Given the description of an element on the screen output the (x, y) to click on. 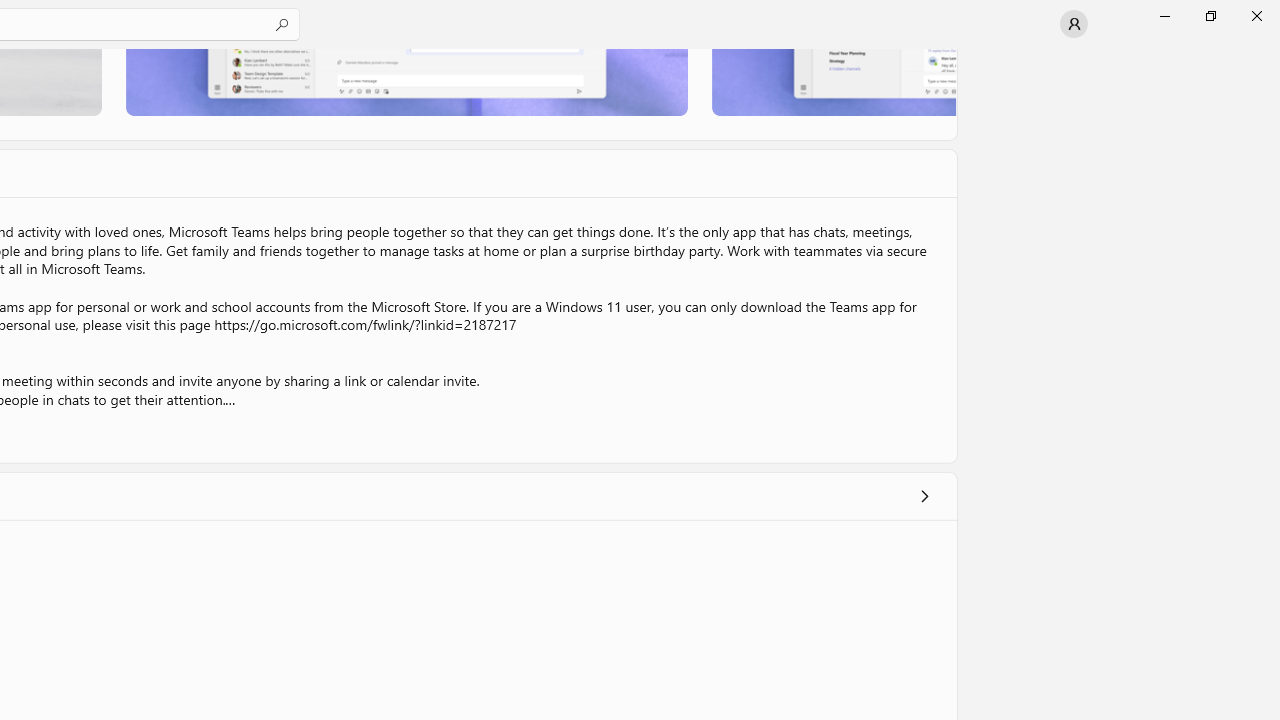
Close Microsoft Store (1256, 15)
Minimize Microsoft Store (1164, 15)
Show all ratings and reviews (924, 495)
Screenshot 3 (833, 81)
Screenshot 2 (406, 81)
User profile (1073, 24)
Restore Microsoft Store (1210, 15)
